Given the description of an element on the screen output the (x, y) to click on. 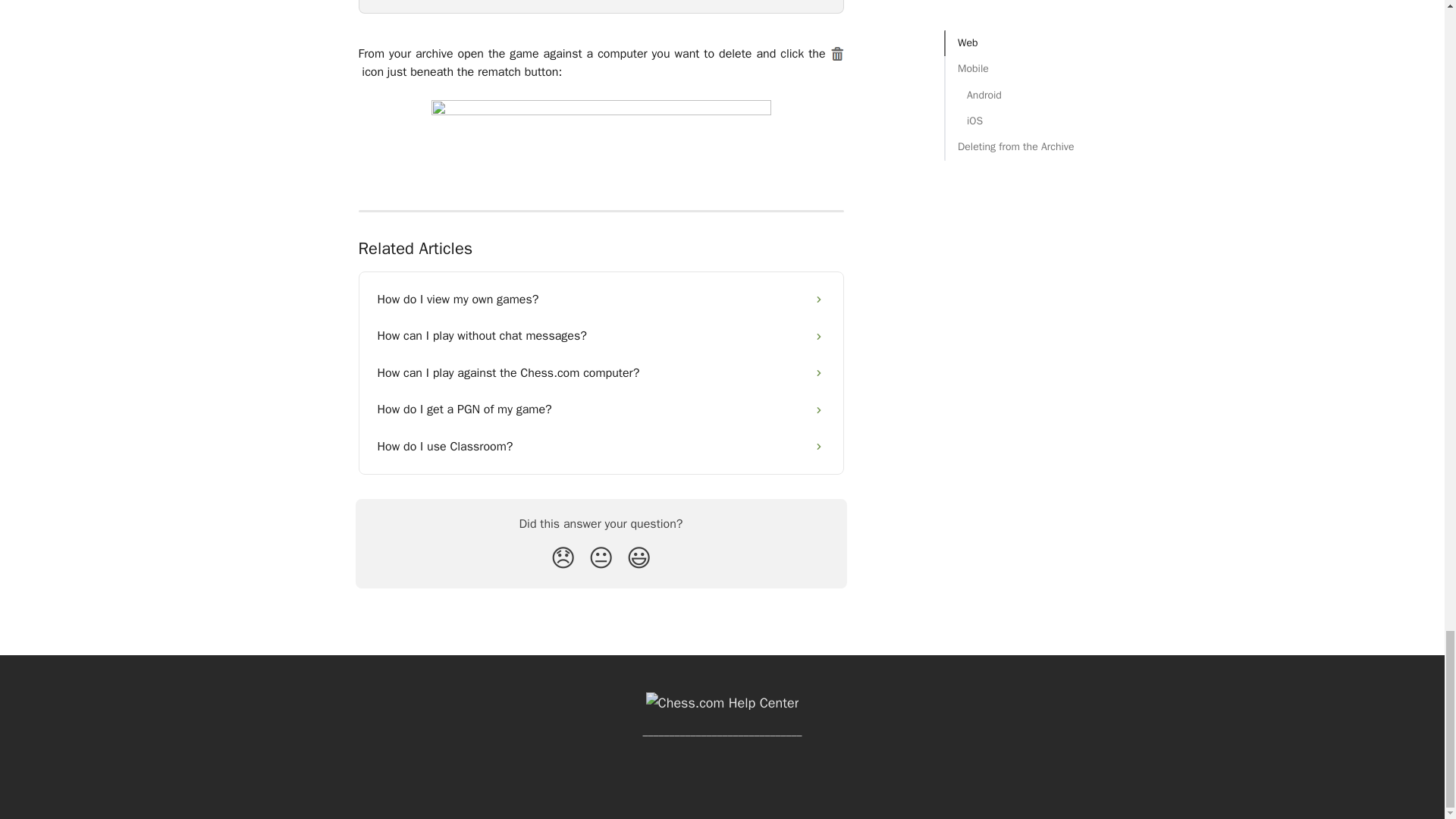
How can I play without chat messages? (601, 335)
How do I get a PGN of my game? (601, 409)
How do I use Classroom? (601, 446)
How can I play against the Chess.com computer? (601, 372)
How do I view my own games? (601, 299)
